Given the description of an element on the screen output the (x, y) to click on. 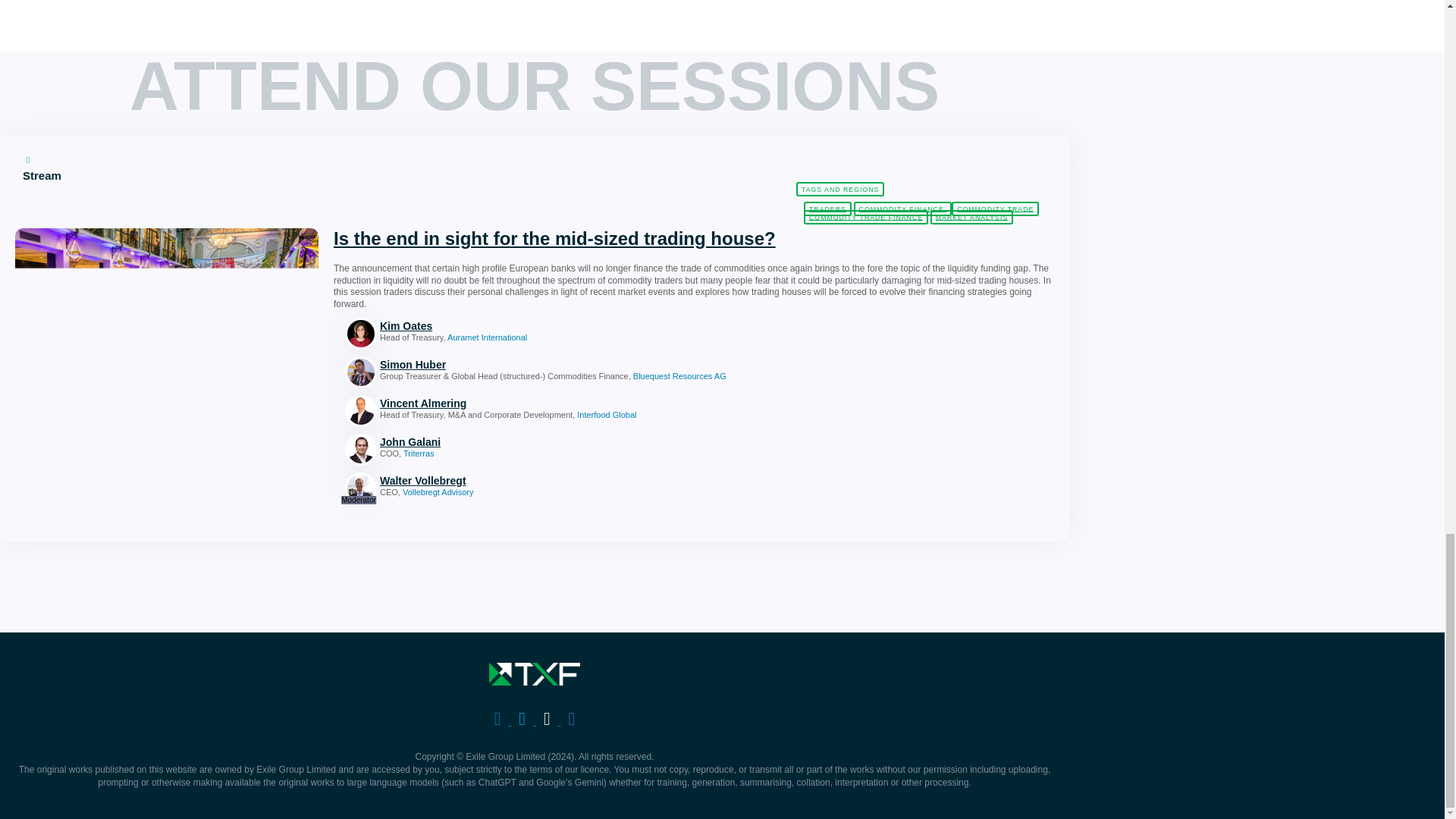
TRADERS (827, 208)
COMMODITY FINANCE (902, 208)
COMMODITY TRADE (995, 208)
Vincent Almering (564, 403)
Simon Huber (564, 364)
John Galani (564, 441)
COMMODITY TRADE FINANCE (865, 216)
MARKET ANALYSIS (971, 216)
TAGS AND REGIONS (839, 188)
Walter Vollebregt (564, 480)
